Given the description of an element on the screen output the (x, y) to click on. 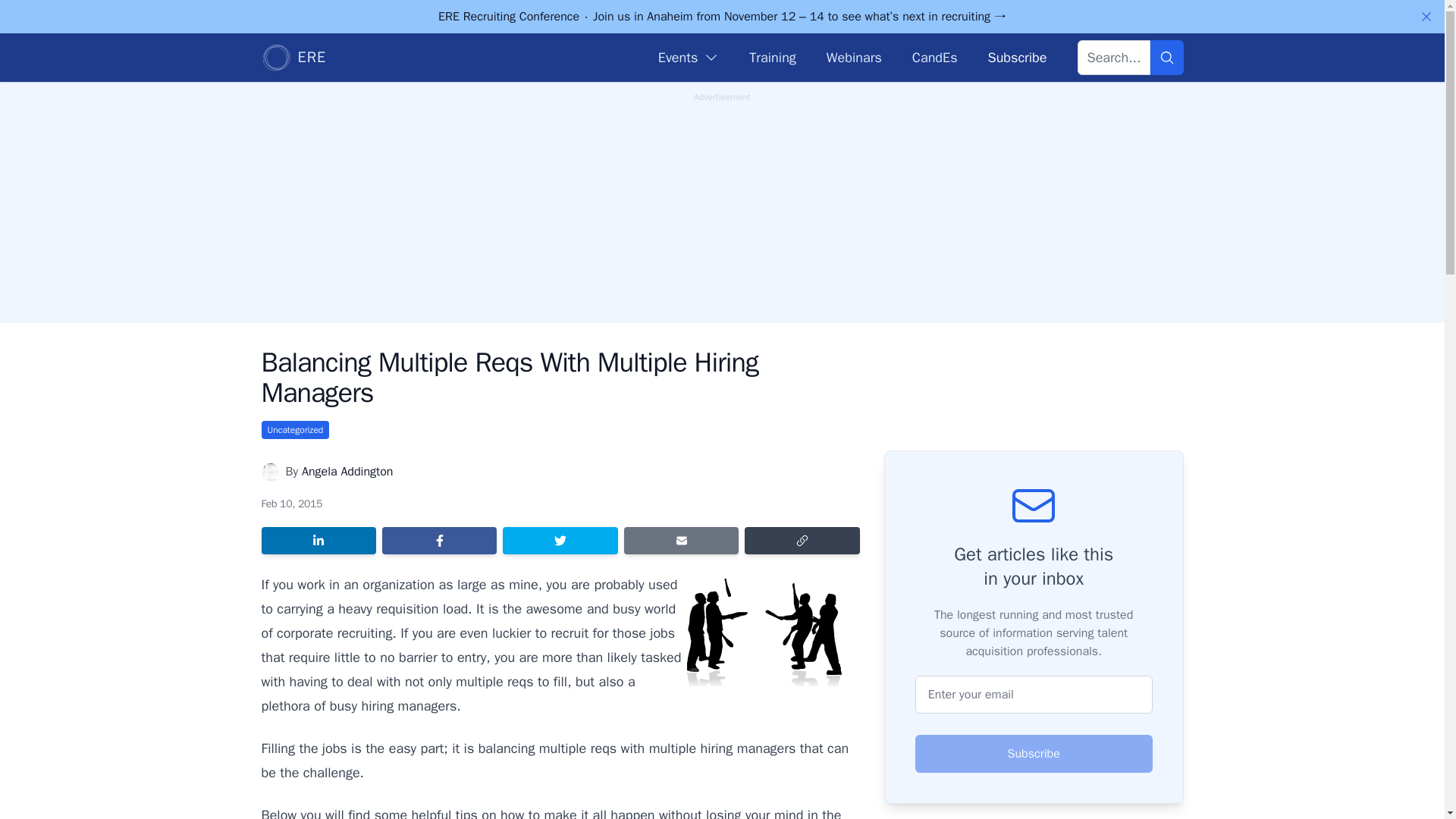
Angela Addington (347, 471)
Subscribe (1034, 753)
Subscribe (1016, 56)
Dismiss (1425, 16)
Webinars (854, 56)
Training (771, 56)
ERE (293, 57)
Uncategorized (294, 429)
CandEs (935, 56)
Events (688, 56)
